Given the description of an element on the screen output the (x, y) to click on. 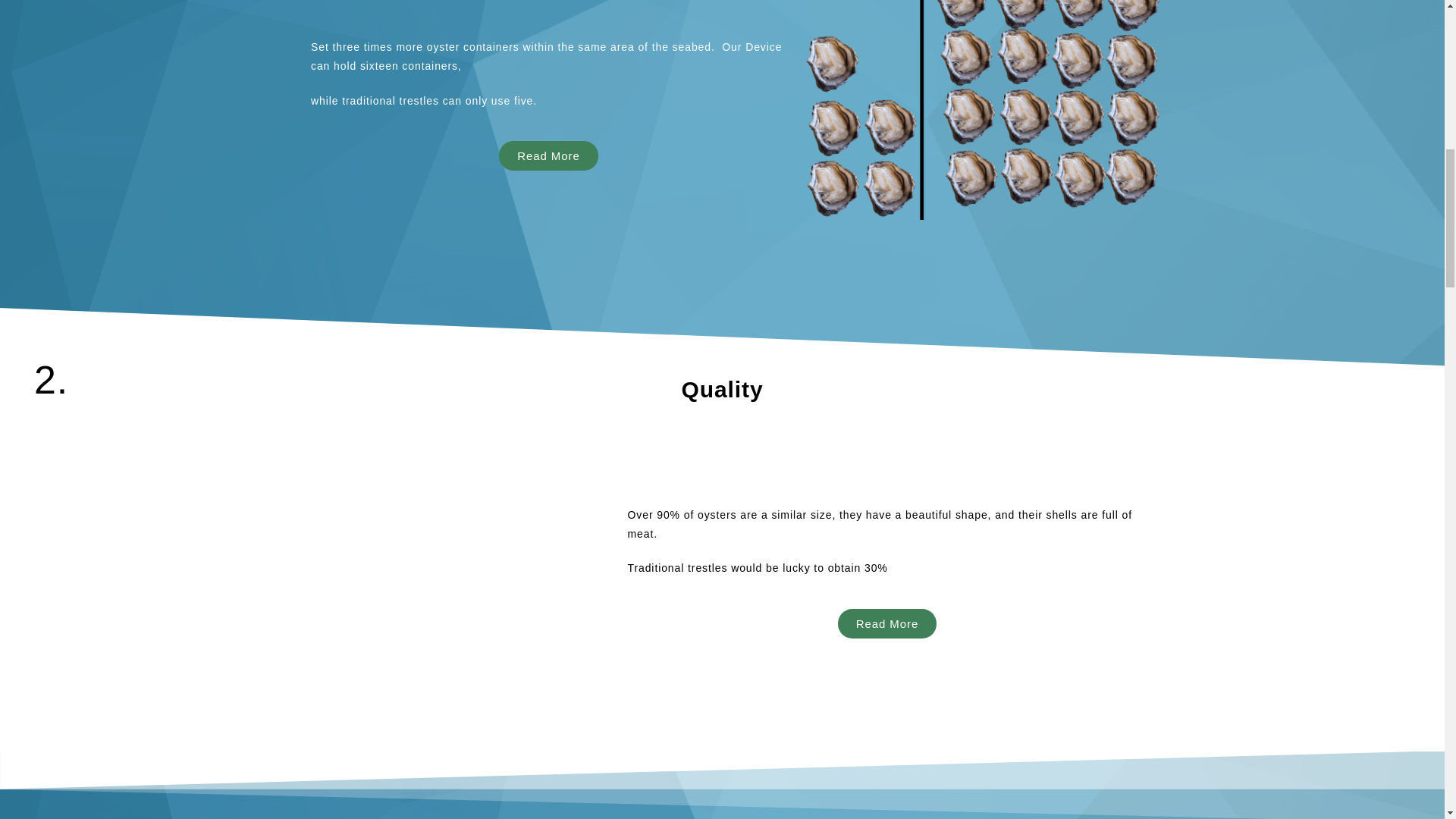
Read More (547, 155)
Read More (887, 623)
